Given the description of an element on the screen output the (x, y) to click on. 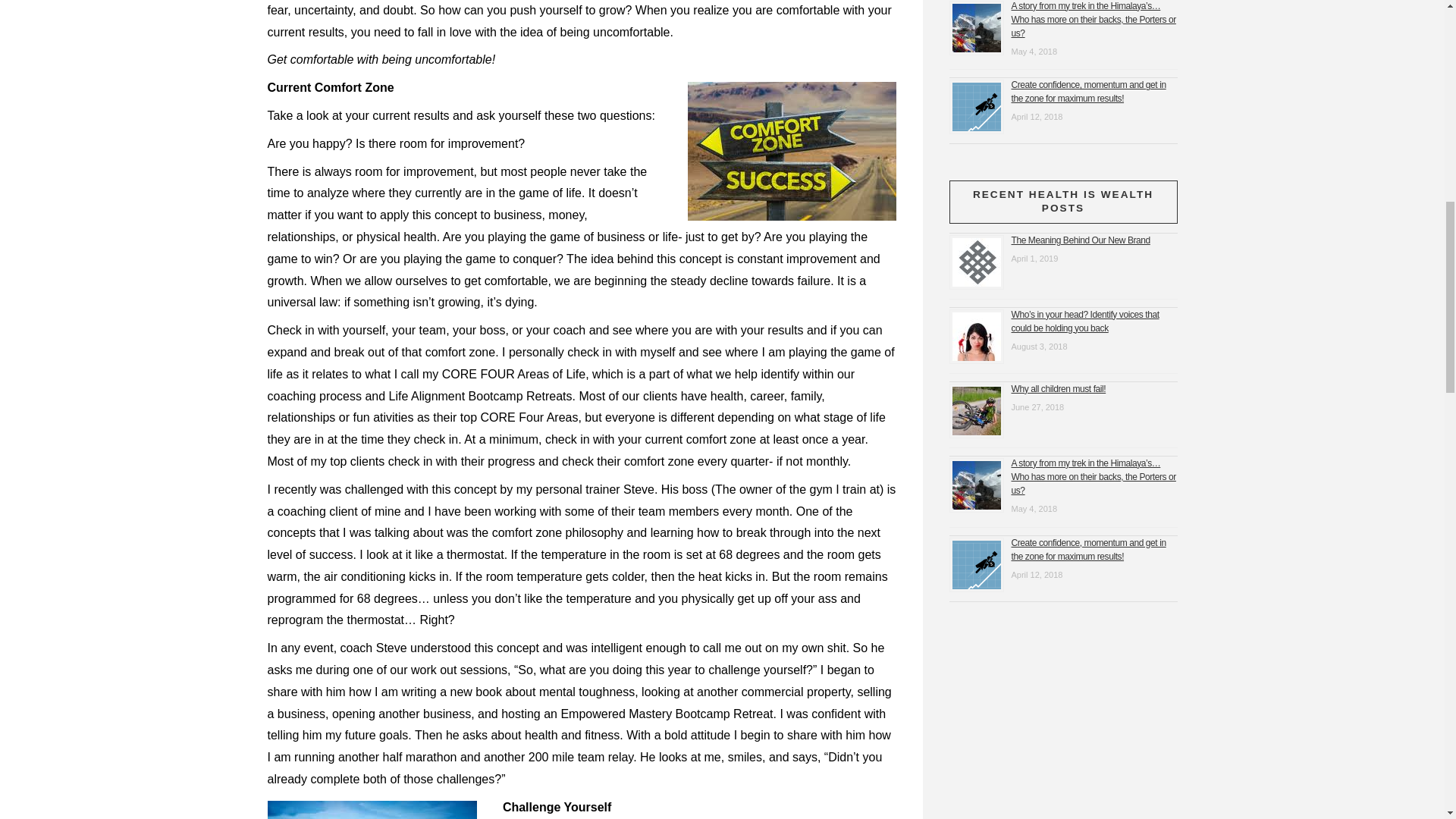
Permalink to The Meaning Behind Our New Brand (1080, 240)
Permalink to Why all children must fail! (1058, 388)
